Given the description of an element on the screen output the (x, y) to click on. 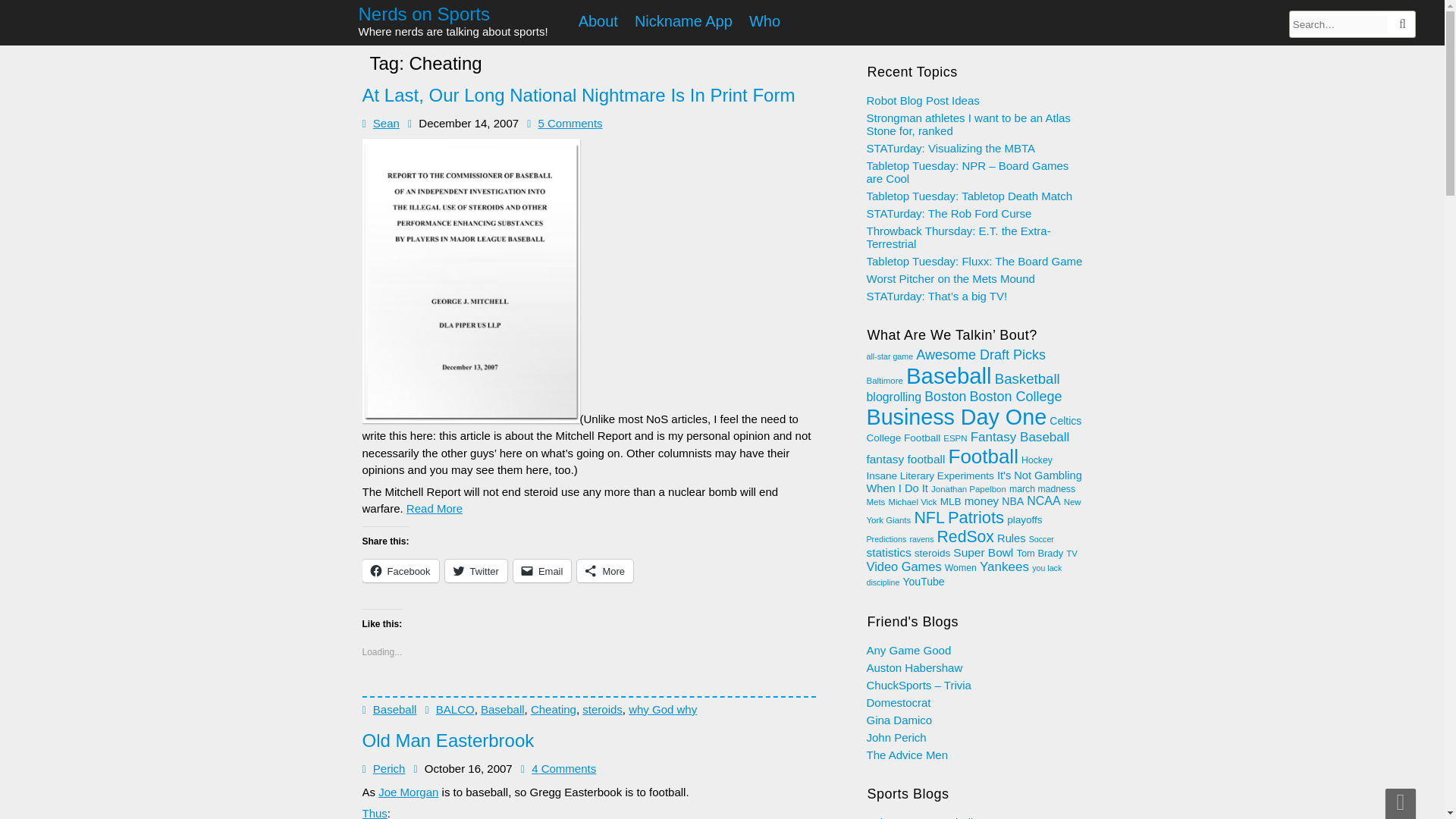
Cheating (553, 708)
At Last, Our Long National Nightmare Is In Print Form (578, 95)
steroids (602, 708)
Old Man Easterbrook (448, 740)
Email (542, 570)
BALCO (454, 708)
4 Comments (563, 768)
Twitter (475, 570)
5 Comments (570, 123)
Posts by Perich (389, 768)
